Given the description of an element on the screen output the (x, y) to click on. 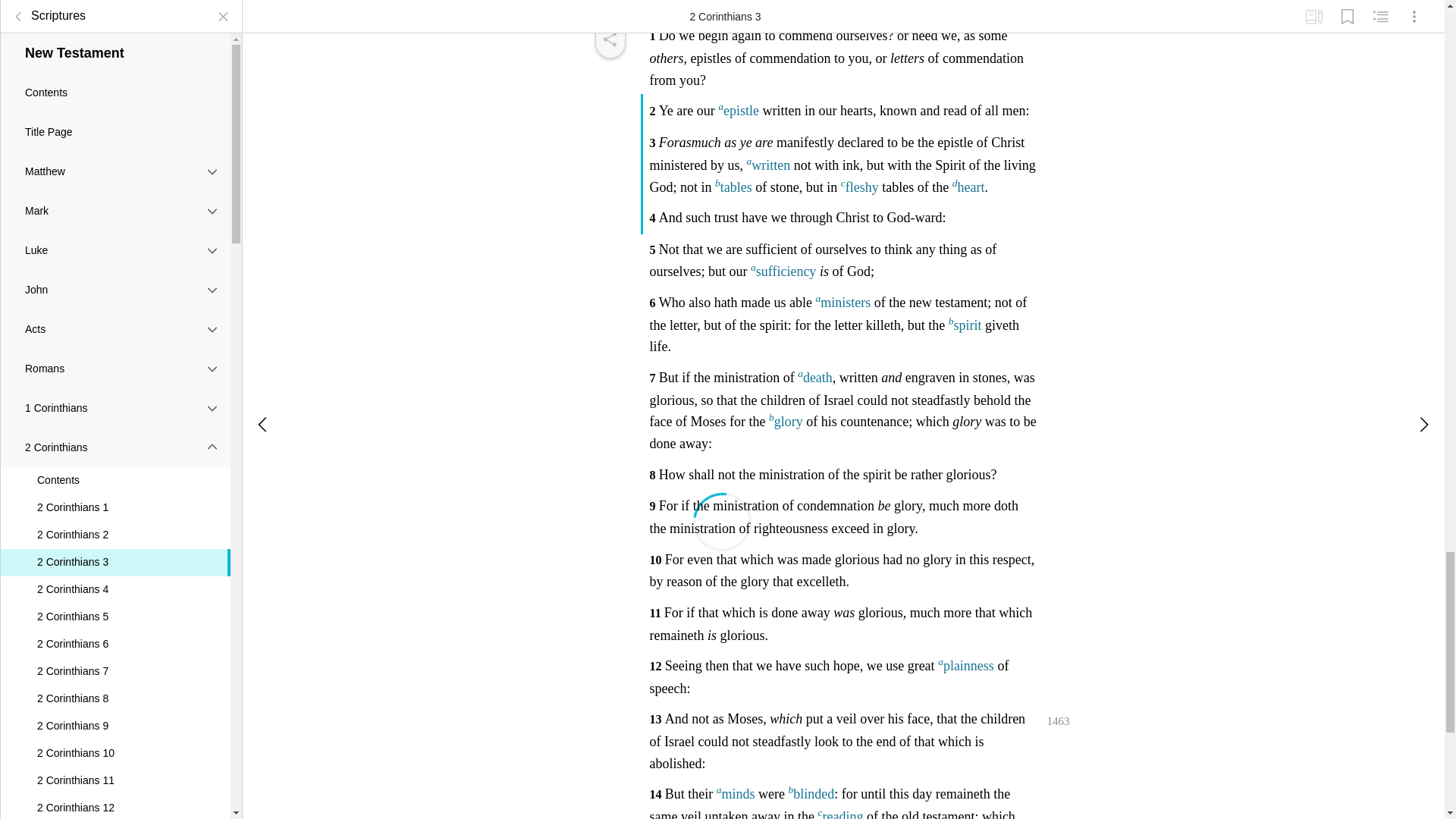
2 Corinthians 11 (115, 633)
2 Corinthians 12 (115, 660)
Title Page (115, 2)
Mark (115, 62)
Romans (115, 220)
2 Corinthians 5 (115, 469)
Ephesians (115, 760)
2 Corinthians 8 (115, 551)
Philippians (115, 799)
2 Corinthians 3 (115, 414)
Contents (115, 332)
2 Corinthians 6 (115, 496)
2 Corinthians 7 (115, 523)
Share (608, 39)
Acts (115, 180)
